Given the description of an element on the screen output the (x, y) to click on. 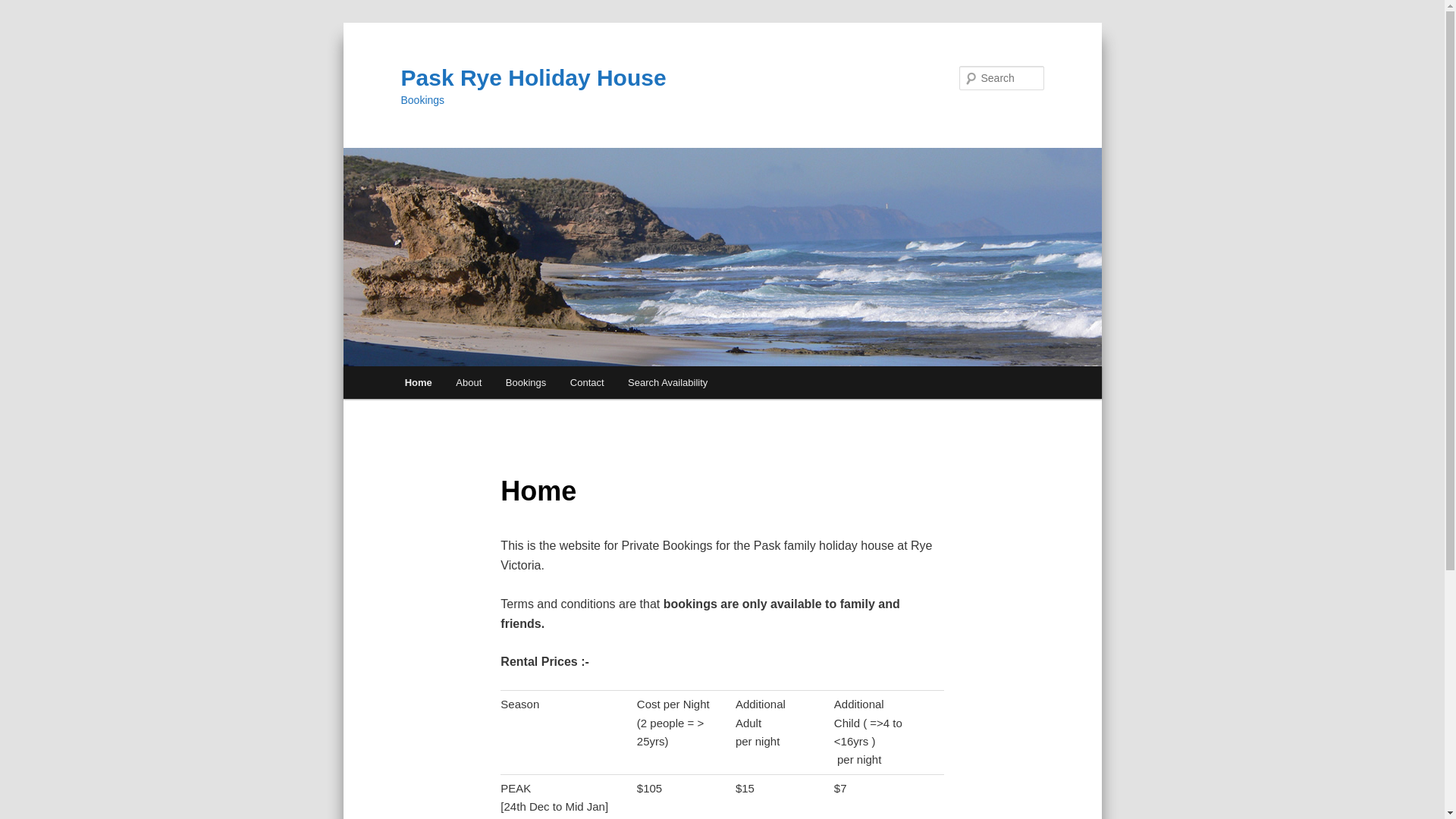
Pask Rye Holiday House Element type: text (532, 77)
Search Element type: text (24, 8)
Home Element type: text (418, 382)
Skip to primary content Element type: text (22, 22)
About Element type: text (468, 382)
Bookings Element type: text (525, 382)
Search Availability Element type: text (667, 382)
Contact Element type: text (586, 382)
